Given the description of an element on the screen output the (x, y) to click on. 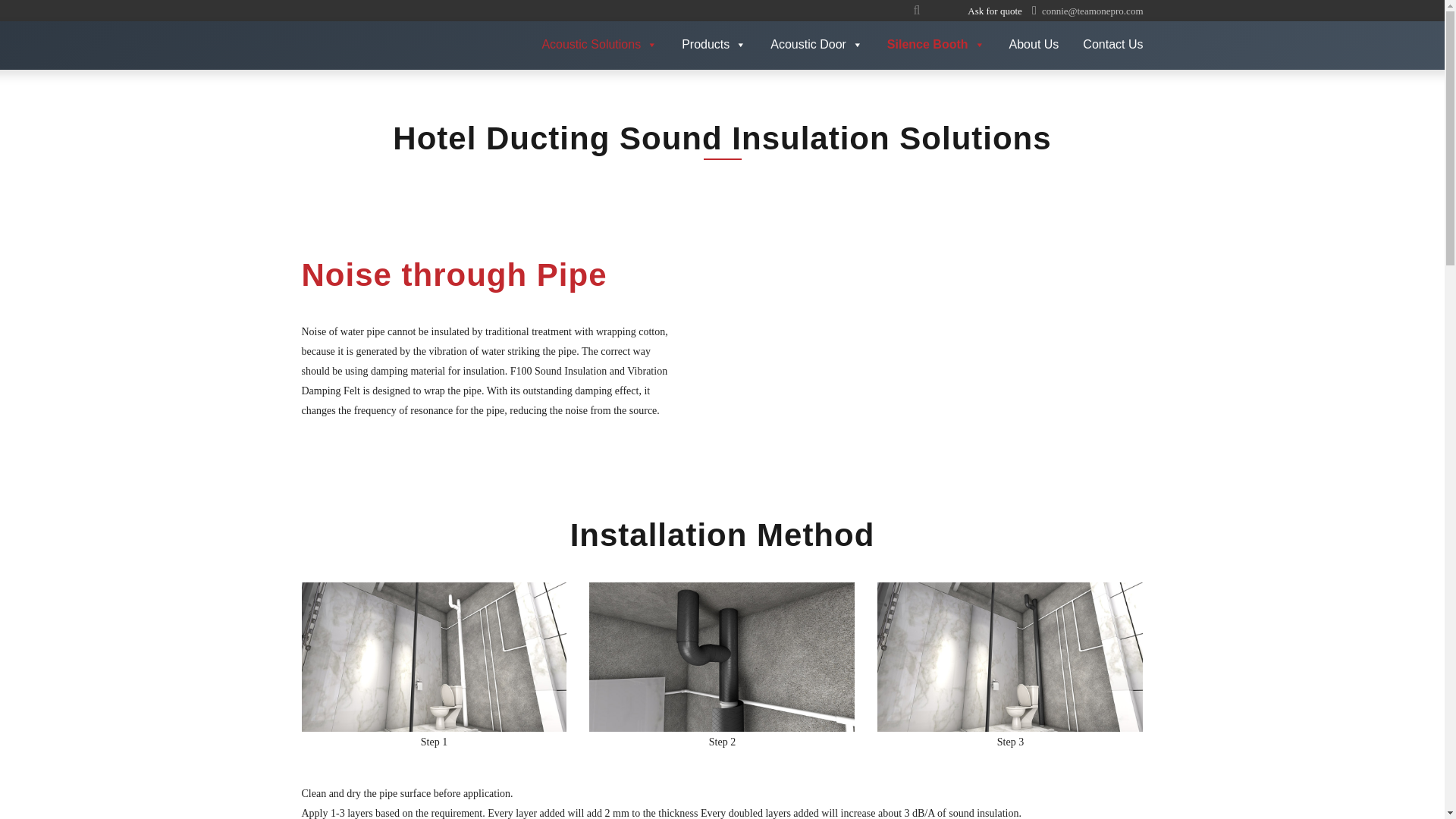
Acoustic Solutions (599, 45)
Acoustic Door (816, 45)
Silence Booth (936, 45)
Products (713, 45)
Hotel Piping Sound Insulation Solutions (937, 334)
